Given the description of an element on the screen output the (x, y) to click on. 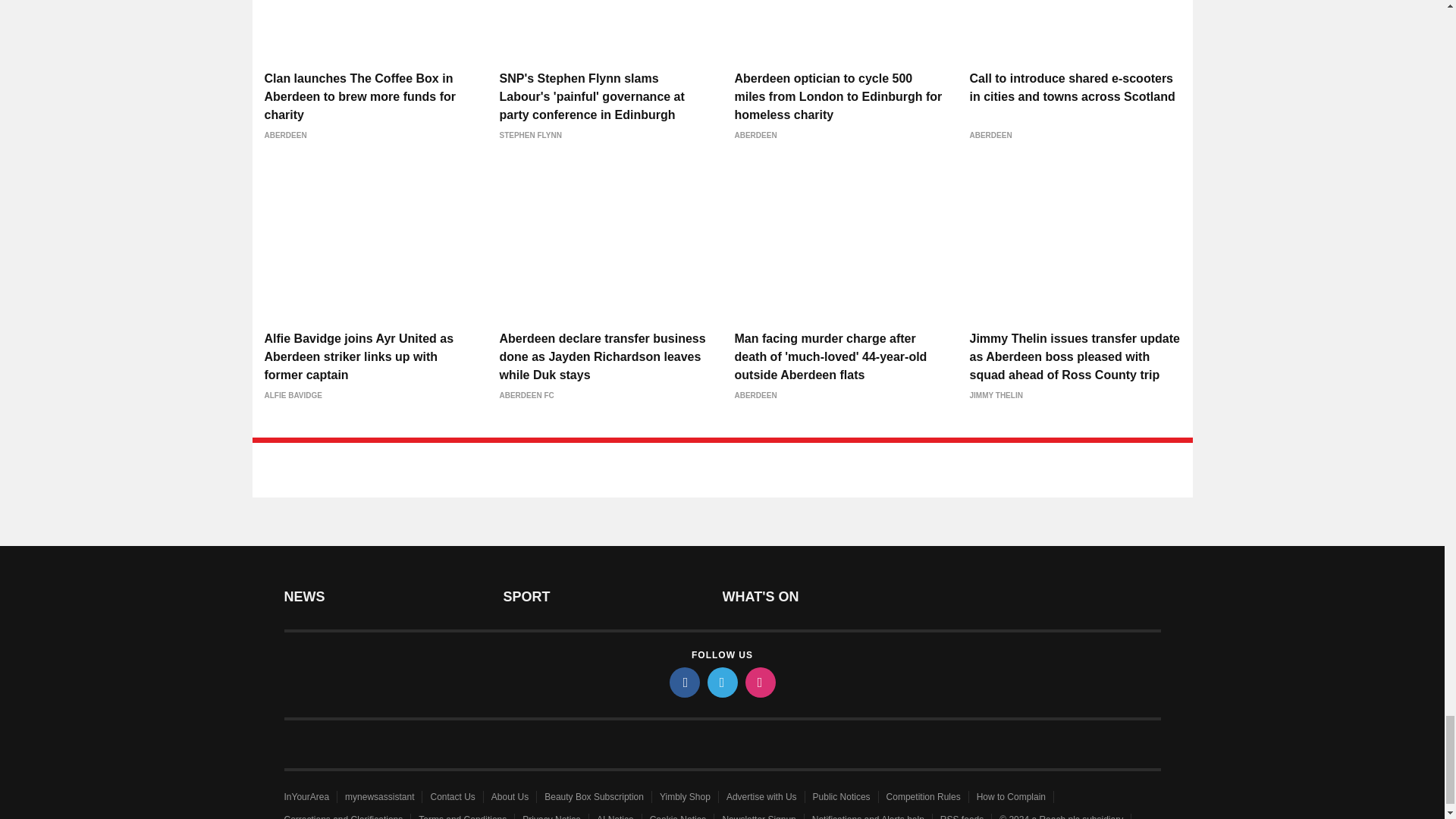
twitter (721, 682)
facebook (683, 682)
instagram (759, 682)
